Given the description of an element on the screen output the (x, y) to click on. 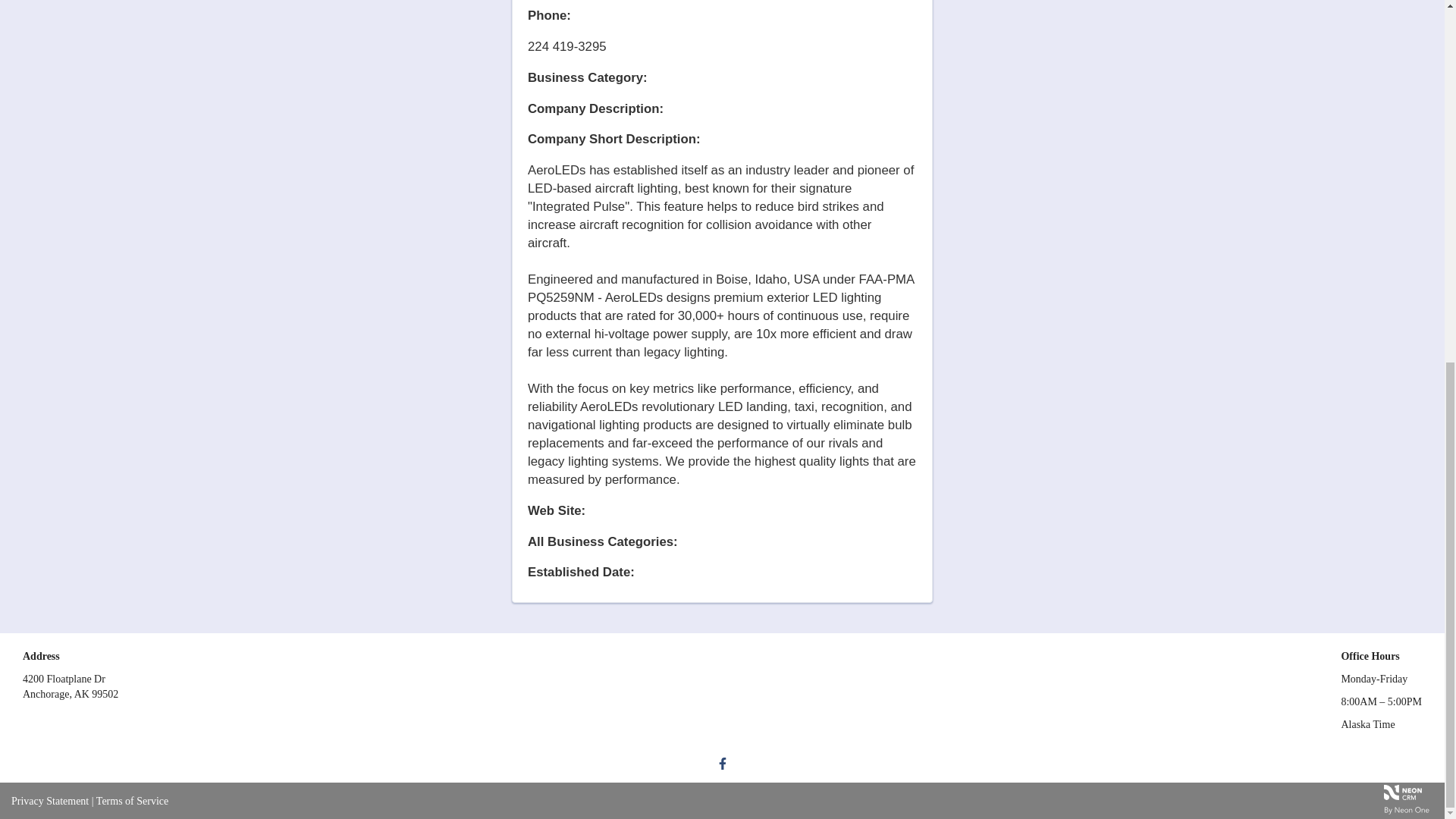
Terms of Service (132, 800)
Privacy Statement (49, 800)
